Given the description of an element on the screen output the (x, y) to click on. 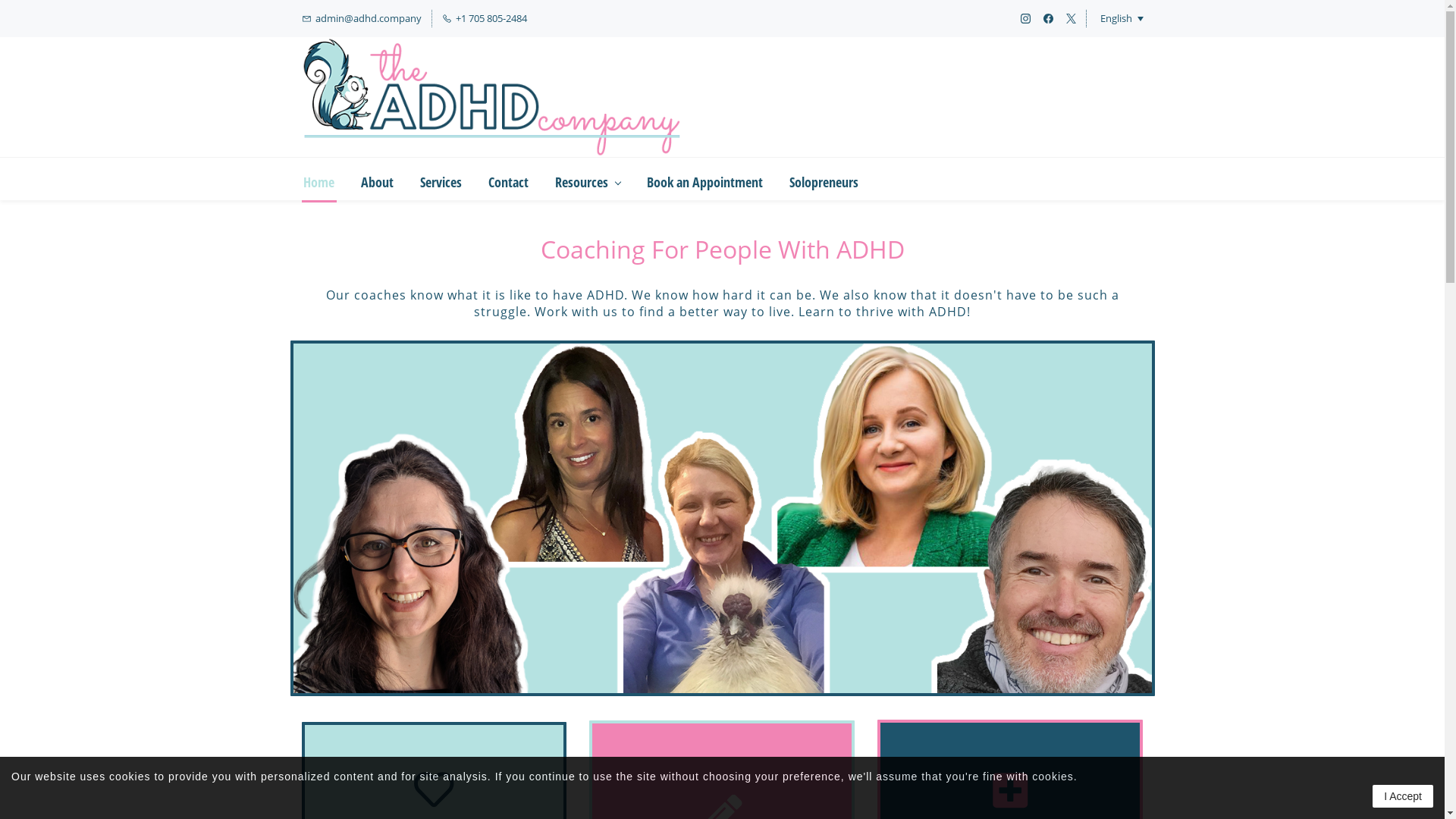
Contact Element type: text (508, 178)
Services Element type: text (441, 178)
Home Element type: text (318, 178)
I Deny Element type: text (722, 11)
+1 705 805-2484 Element type: text (483, 18)
I Accept Element type: text (1402, 795)
Solopreneurs Element type: text (823, 178)
Book an Appointment Element type: text (704, 178)
admin@adhd.company Element type: text (361, 18)
About Element type: text (377, 178)
Resources Element type: text (587, 178)
